Given the description of an element on the screen output the (x, y) to click on. 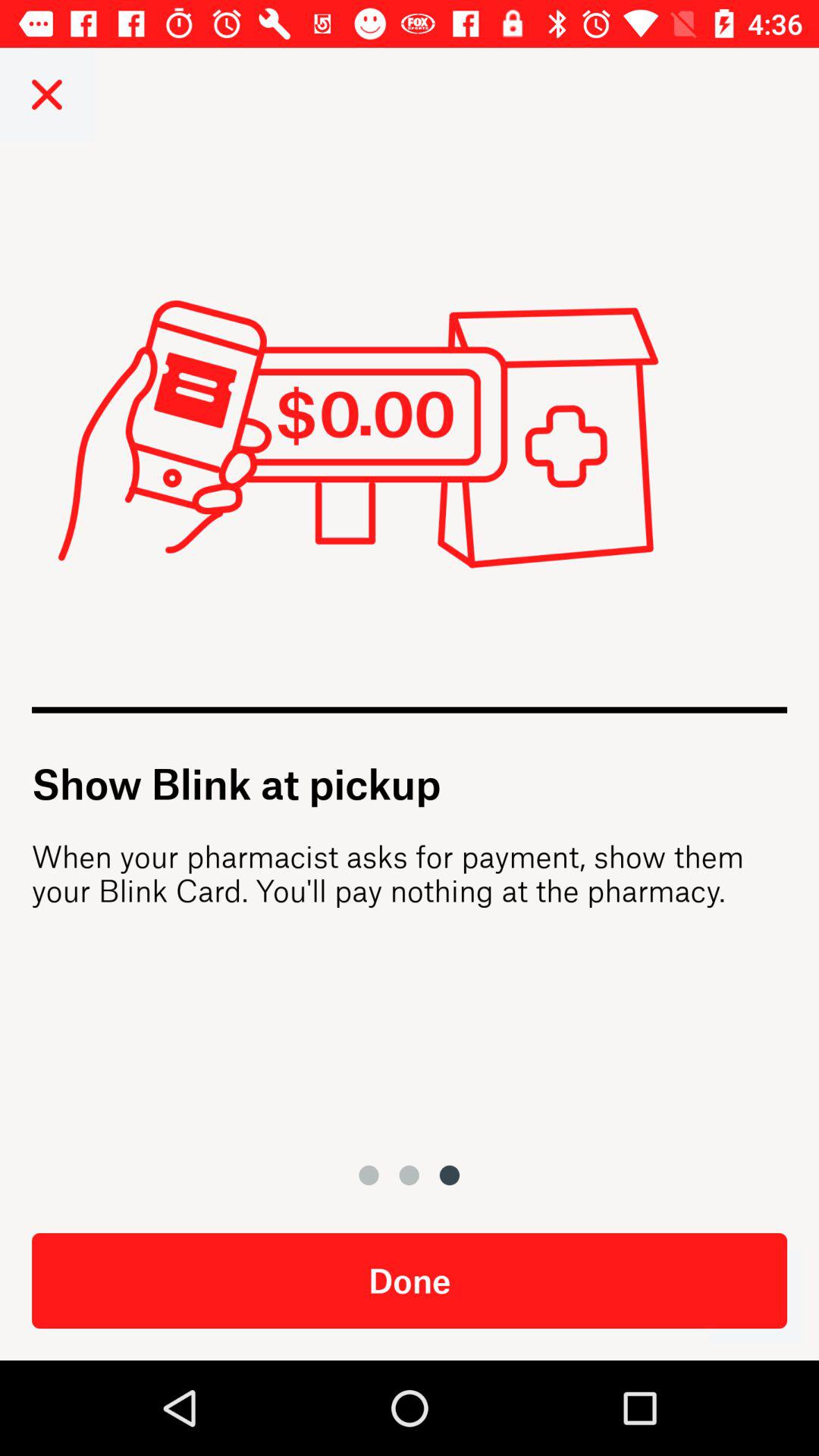
close (46, 94)
